Given the description of an element on the screen output the (x, y) to click on. 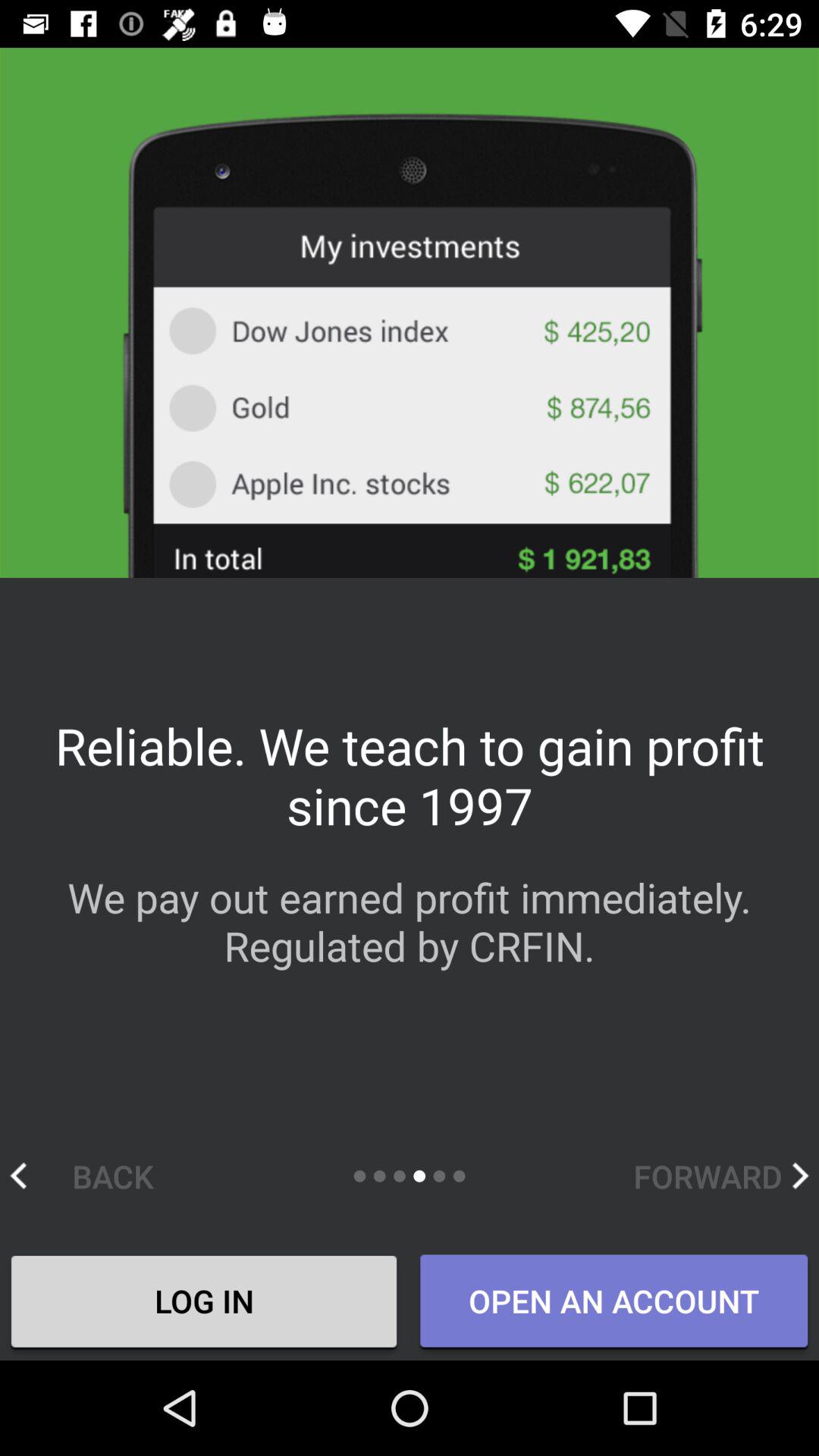
press the icon next to the open an account (204, 1303)
